Given the description of an element on the screen output the (x, y) to click on. 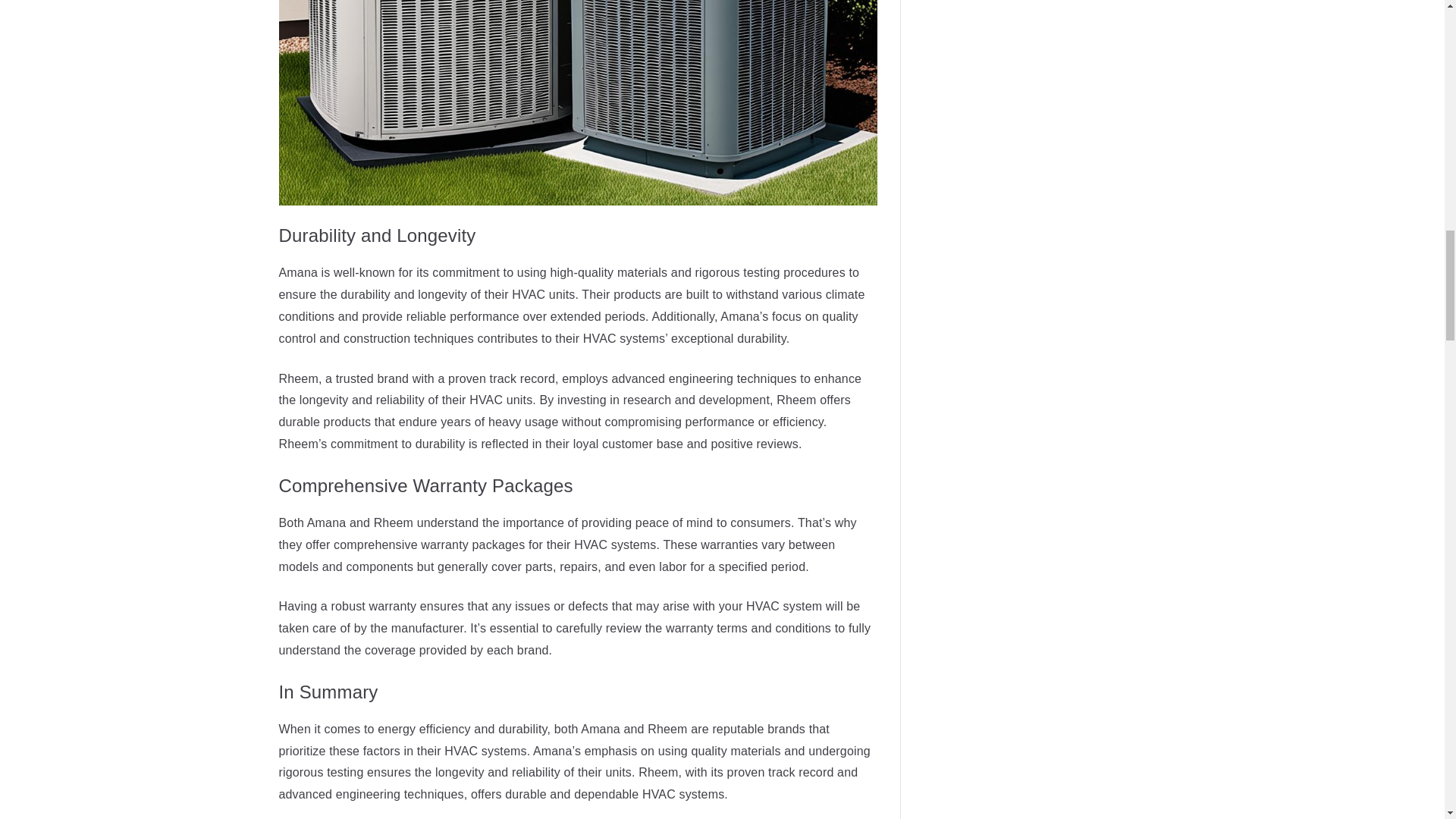
amana vs rheem air conditioner (578, 102)
